Given the description of an element on the screen output the (x, y) to click on. 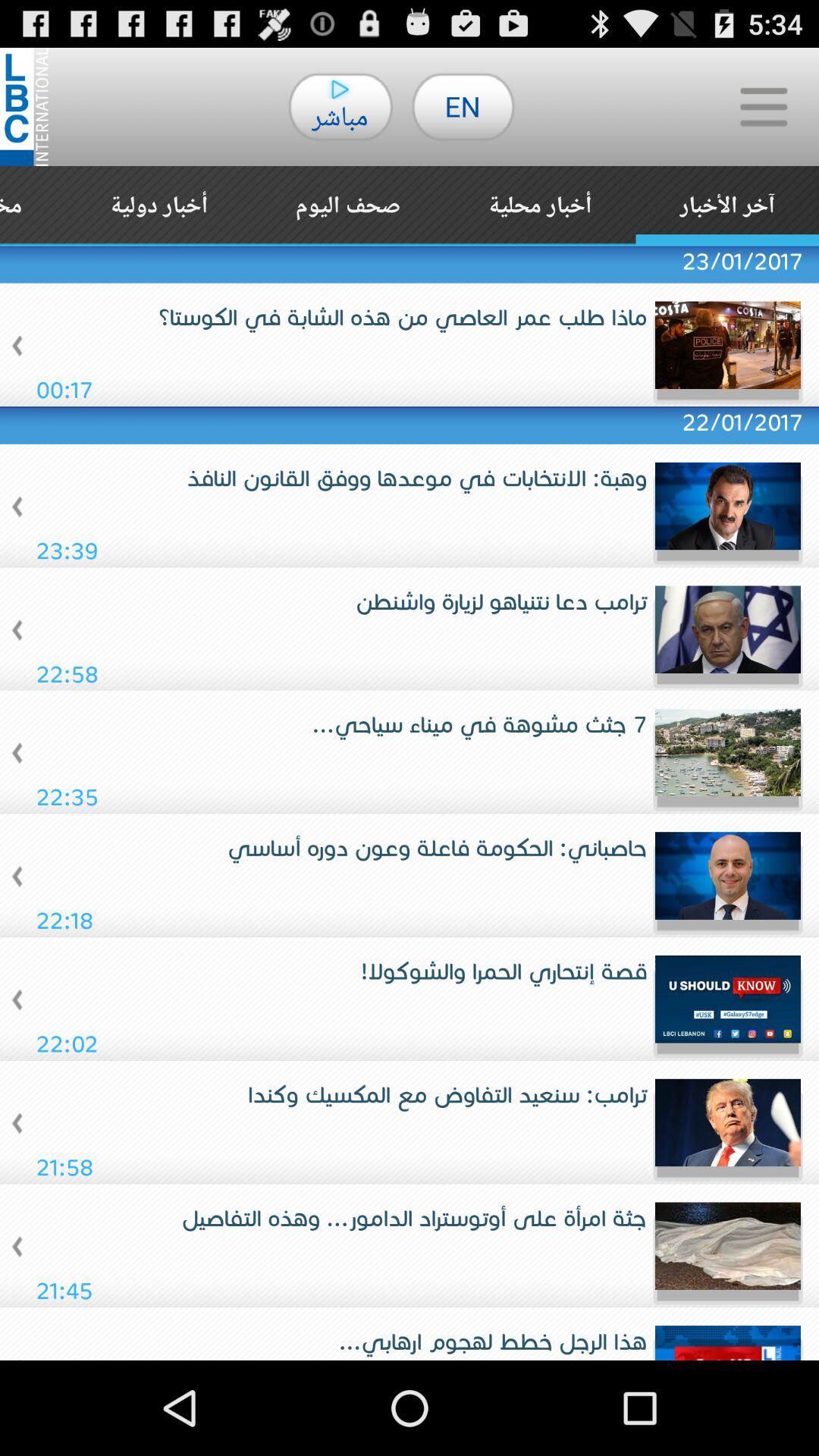
launch icon above the 23/01/2017 item (158, 206)
